Given the description of an element on the screen output the (x, y) to click on. 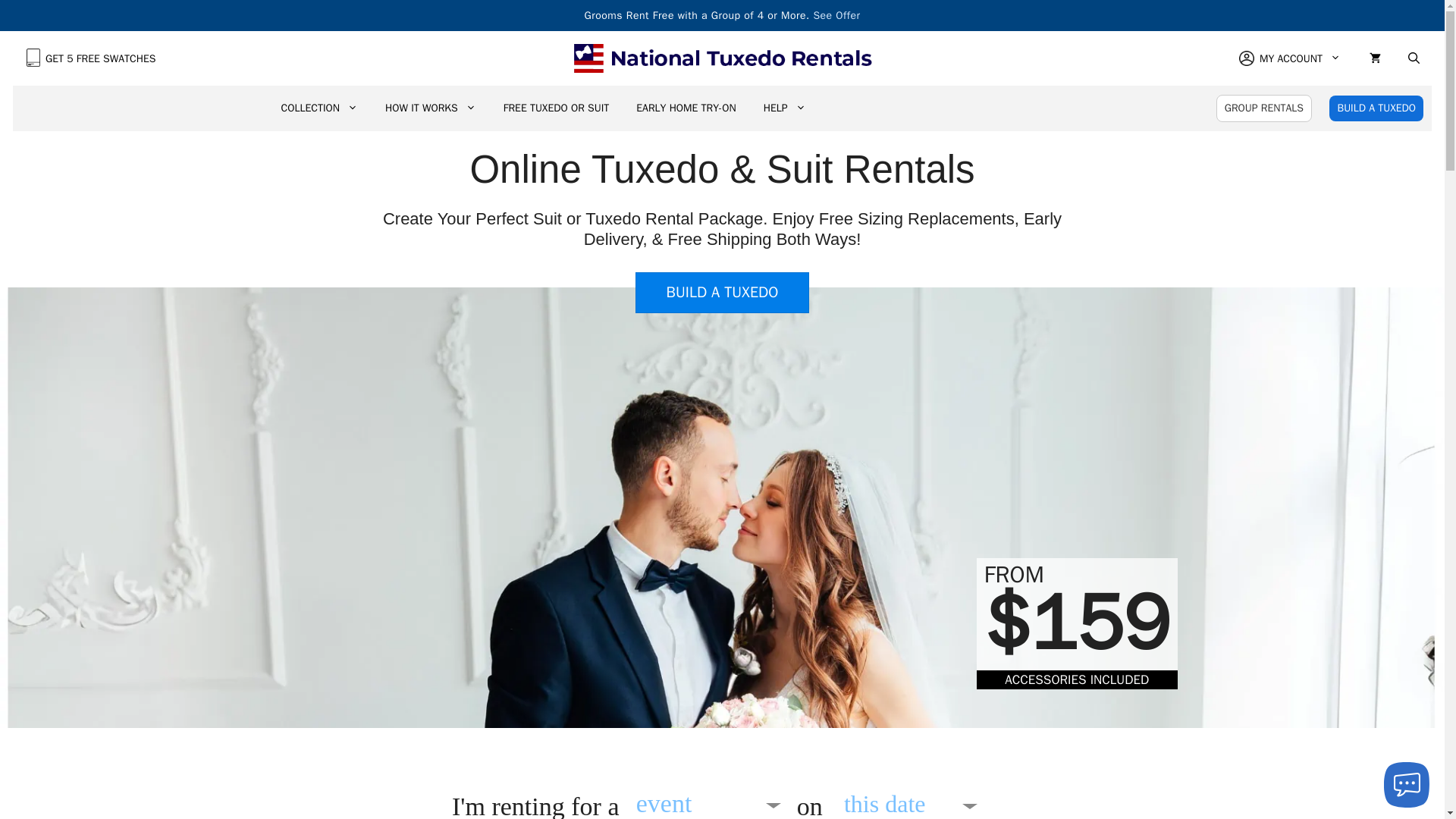
GET 5 FREE SWATCHES (90, 58)
See Offer (836, 15)
COLLECTION (318, 108)
BUILD A TUXEDO (1376, 108)
HOW IT WORKS (430, 108)
HELP (784, 108)
See Offer (836, 15)
EARLY HOME TRY-ON (686, 108)
FREE TUXEDO OR SUIT (556, 108)
